Given the description of an element on the screen output the (x, y) to click on. 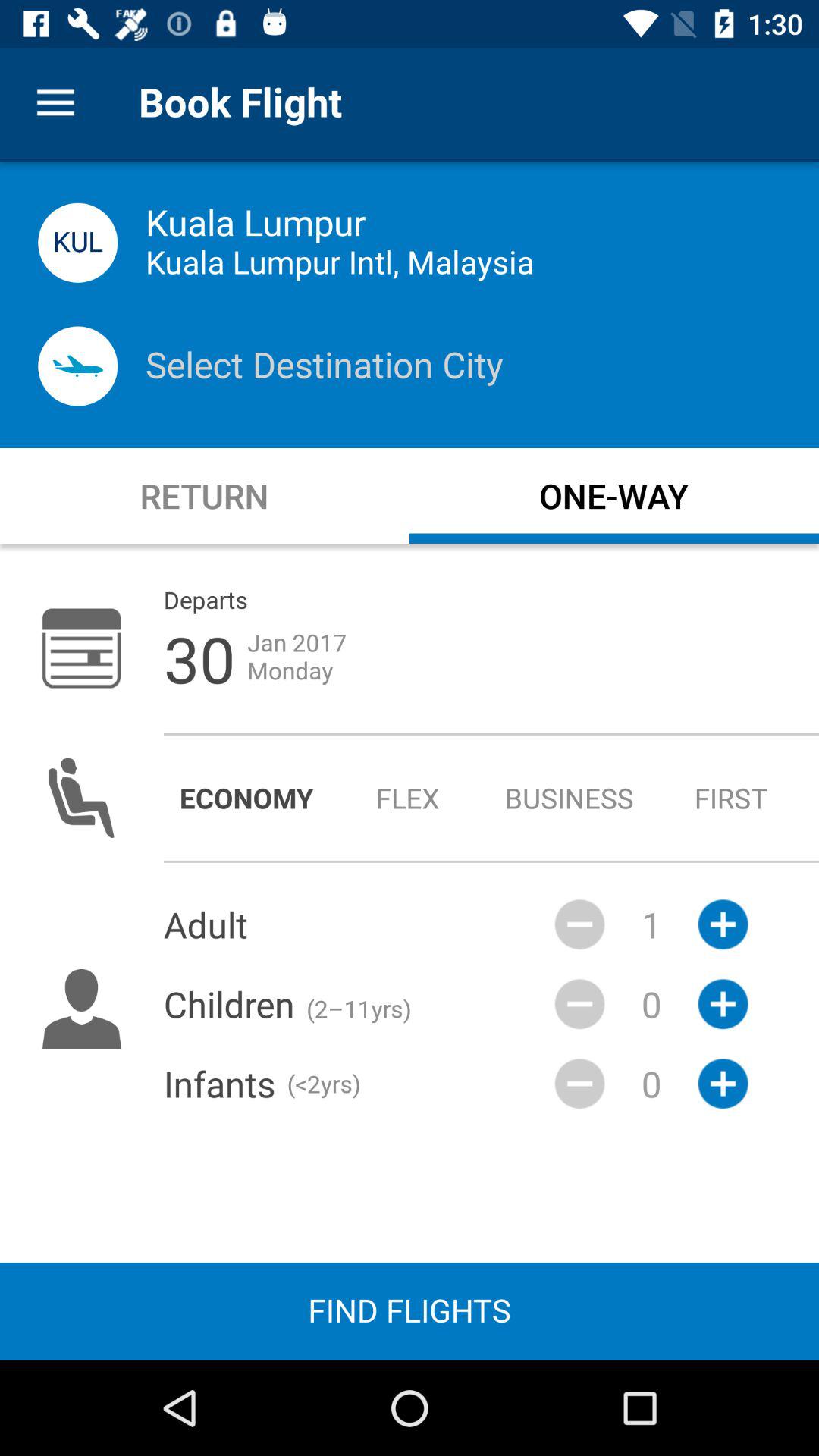
click on flex (408, 797)
click on business which is next to flex (569, 797)
click on the minus icon beside infants text (579, 1083)
